Given the description of an element on the screen output the (x, y) to click on. 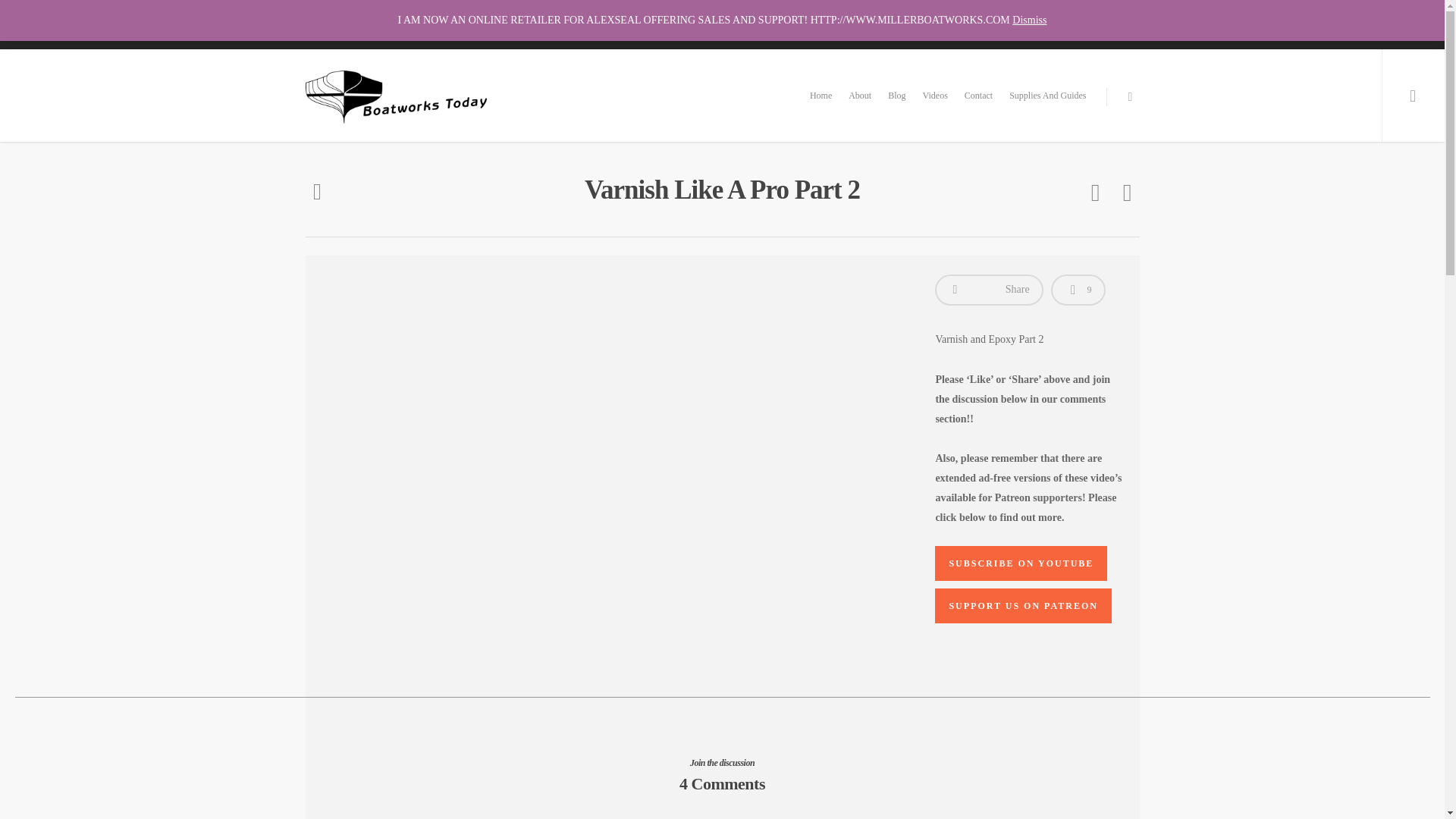
Back to all projects (316, 192)
Have A Question For Me? (1013, 12)
Help Support This Show! (903, 12)
Supplies And Guides (1047, 105)
Love this (1078, 289)
